Given the description of an element on the screen output the (x, y) to click on. 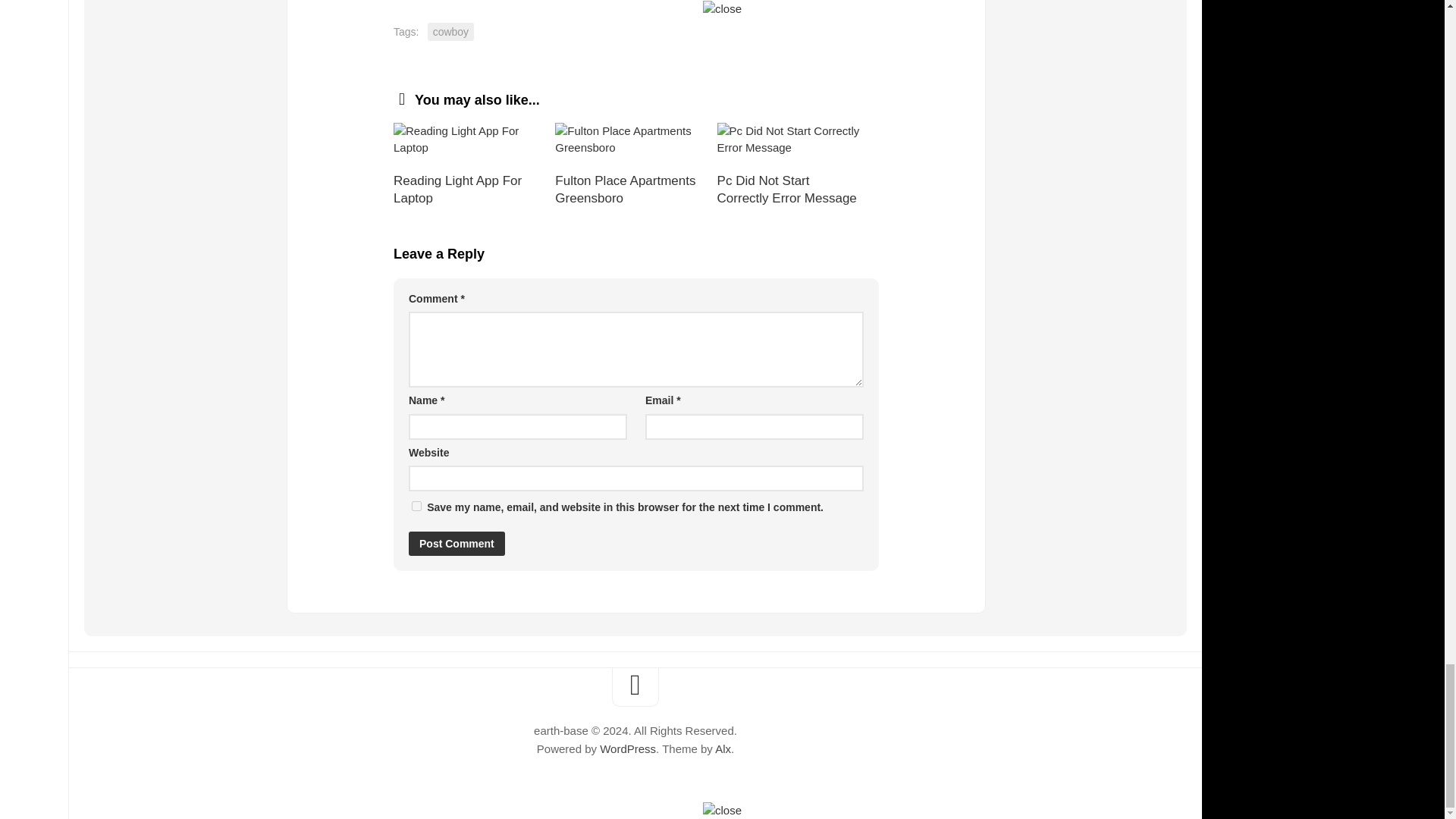
Post Comment (457, 543)
Reading Light App For Laptop (473, 139)
yes (417, 506)
Pc Did Not Start Correctly Error Message (797, 139)
